Given the description of an element on the screen output the (x, y) to click on. 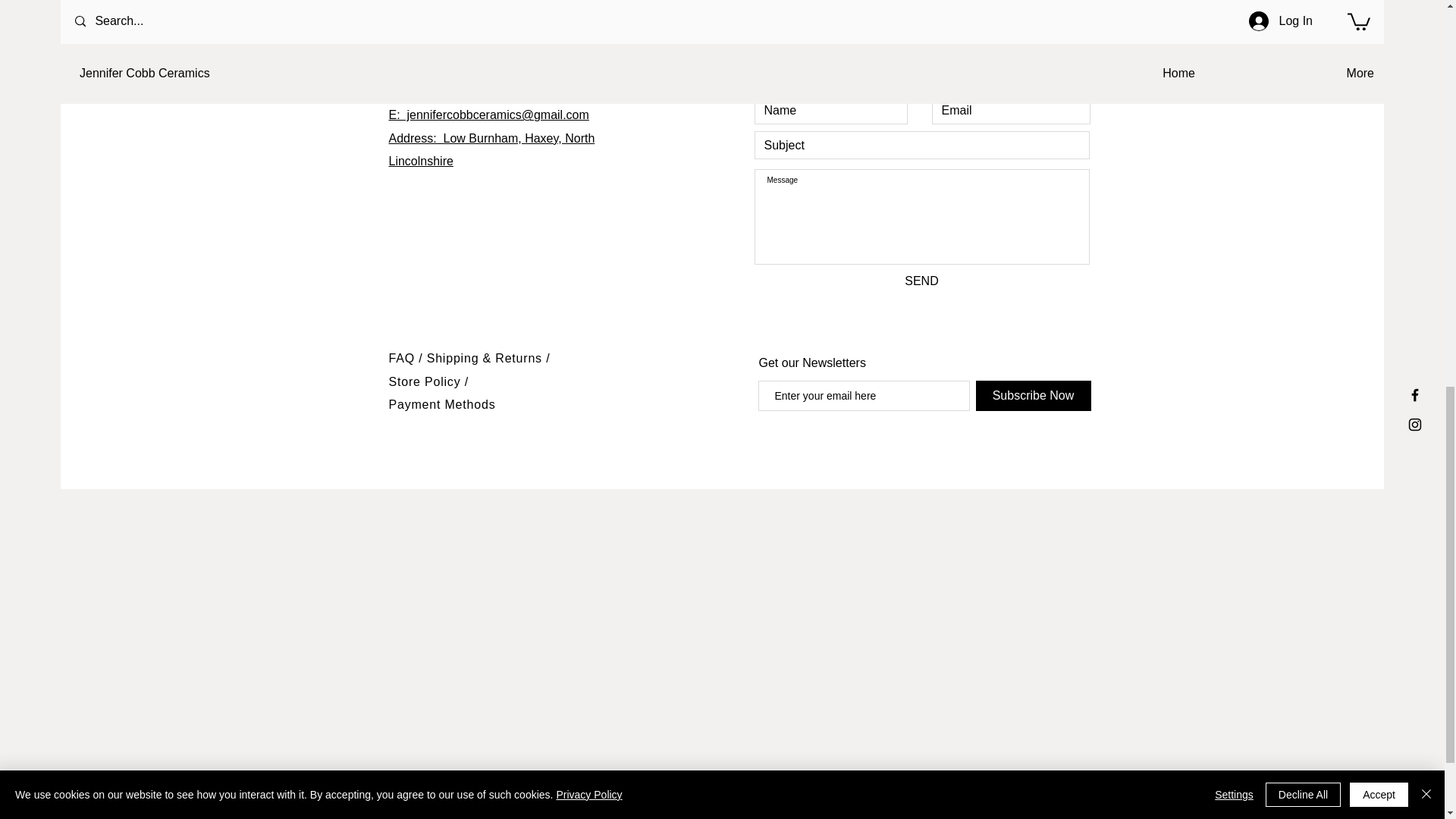
Payment Methods (441, 404)
Subscribe Now (1032, 395)
Store Policy  (426, 381)
SEND (921, 281)
